Given the description of an element on the screen output the (x, y) to click on. 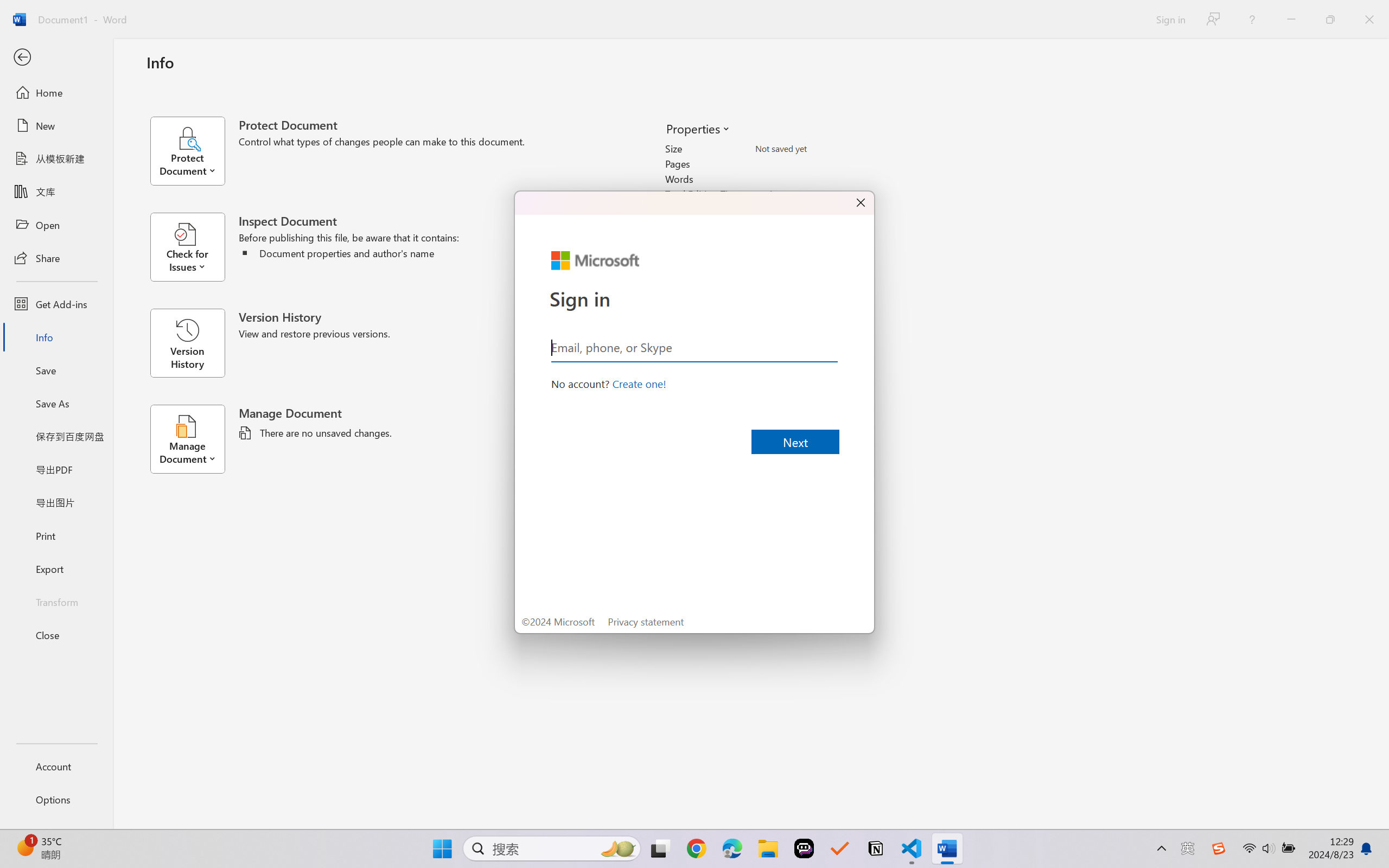
Words (818, 178)
Transform (56, 601)
Print (56, 535)
Get Add-ins (56, 303)
New (56, 125)
Properties (696, 128)
Size (818, 148)
